Given the description of an element on the screen output the (x, y) to click on. 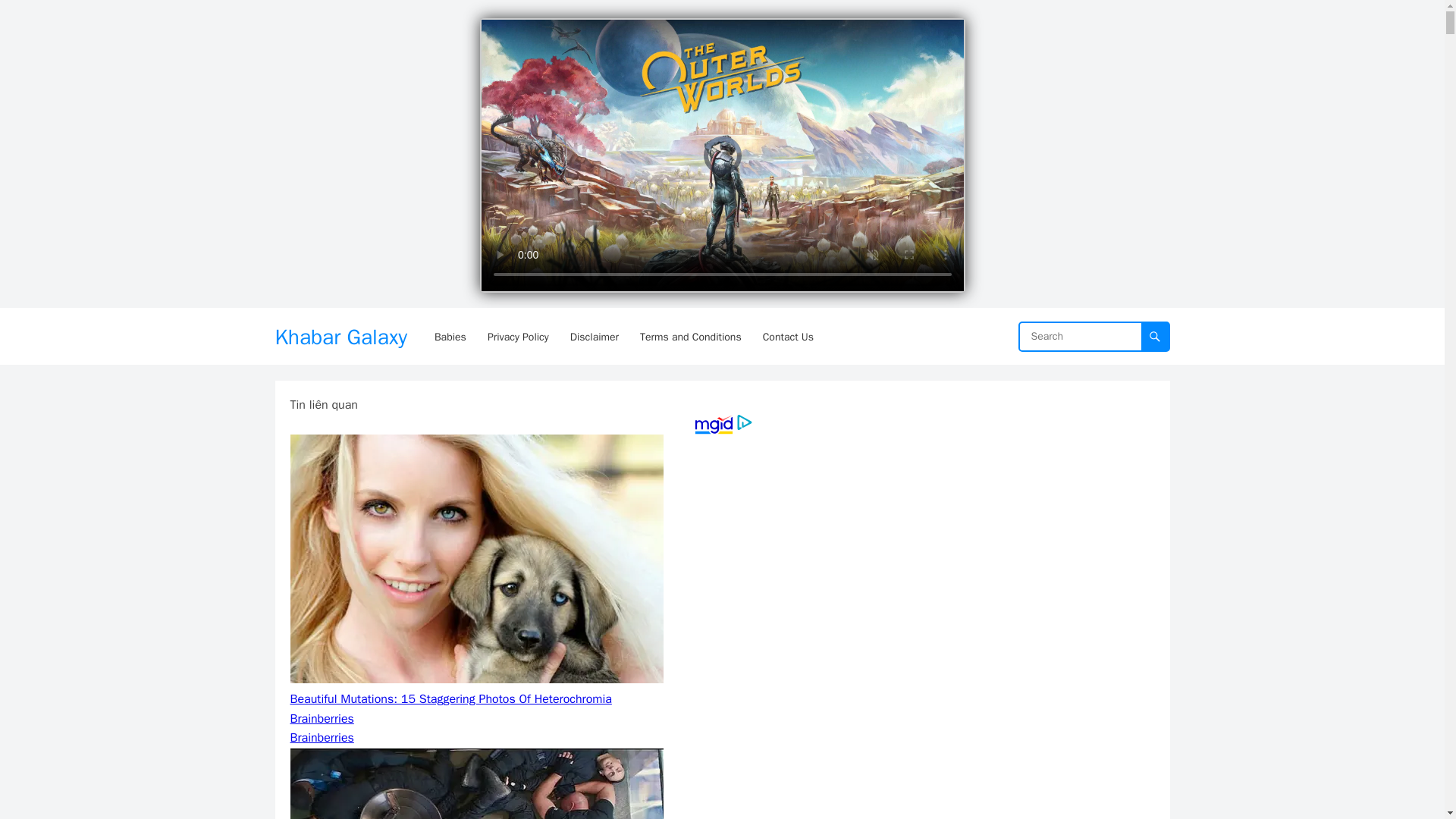
Terms and Conditions (690, 336)
Close (947, 30)
Khabar Galaxy (340, 336)
Disclaimer (593, 336)
Privacy Policy (518, 336)
Close (947, 30)
Contact Us (788, 336)
